Given the description of an element on the screen output the (x, y) to click on. 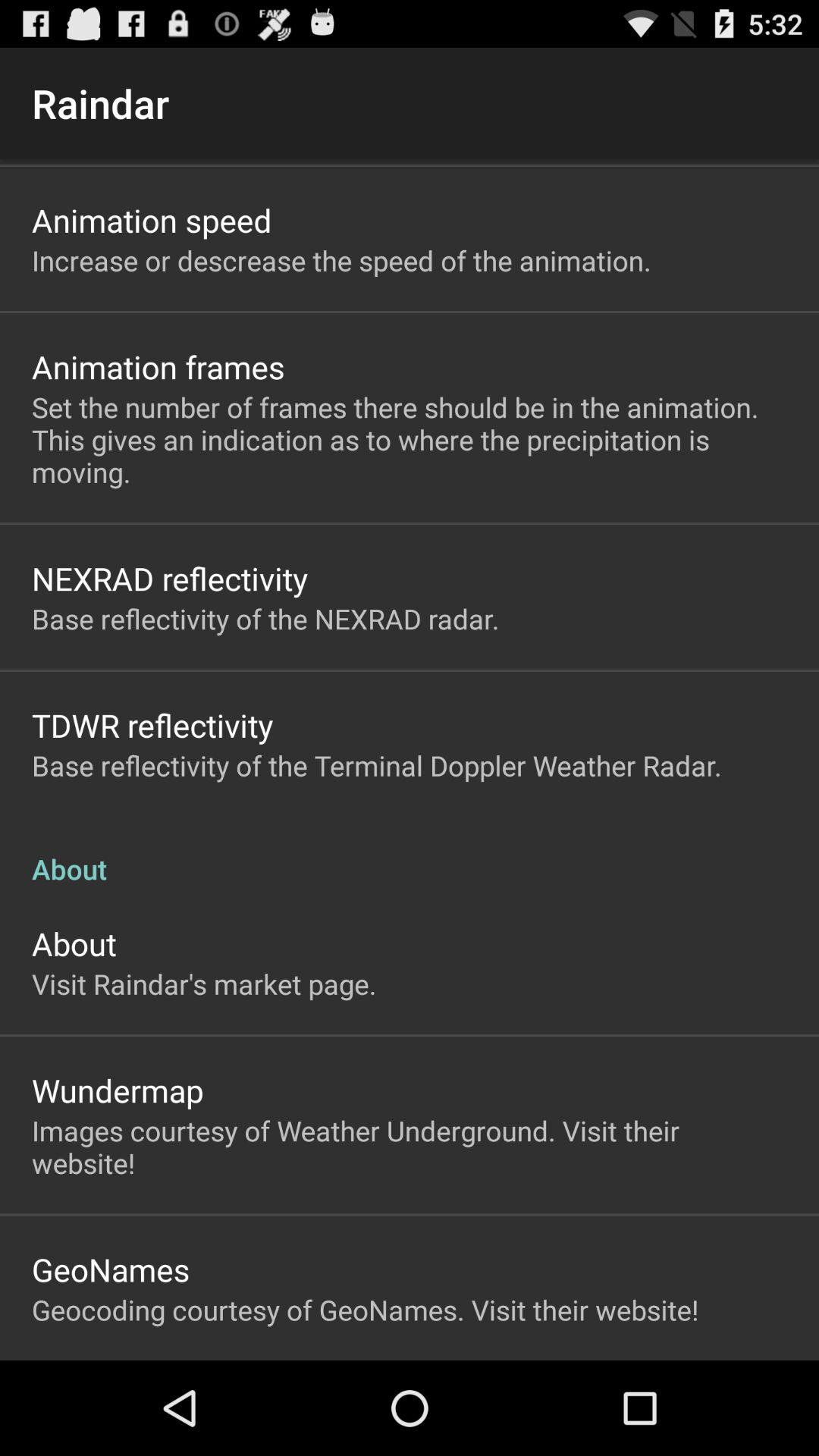
launch the icon above the wundermap (203, 983)
